Given the description of an element on the screen output the (x, y) to click on. 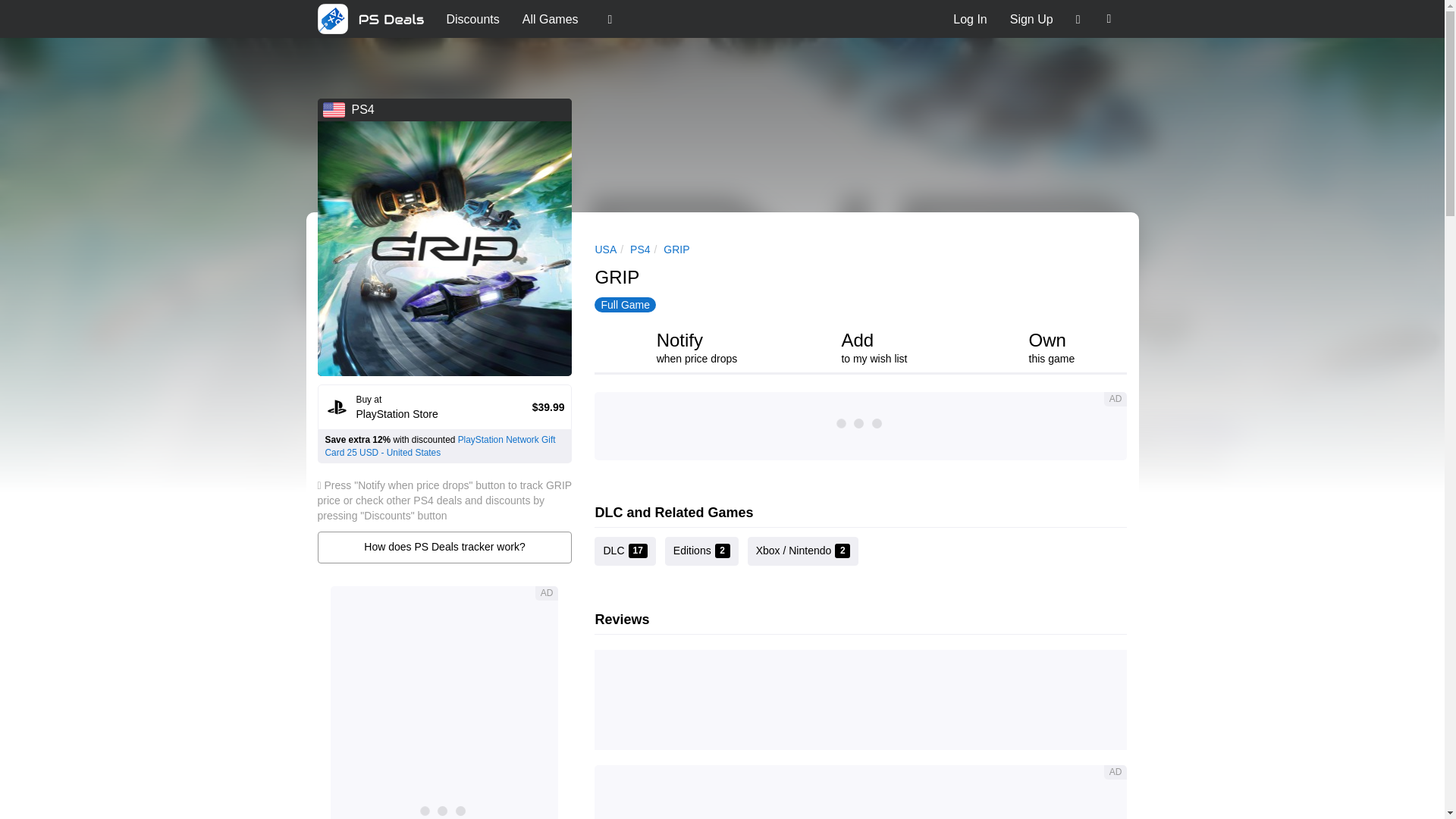
PS4 (639, 249)
USA (604, 249)
Discounts (473, 18)
Log In (969, 18)
Sign Up (1031, 18)
All Games (550, 18)
Search (1109, 18)
GRIP (675, 249)
